Given the description of an element on the screen output the (x, y) to click on. 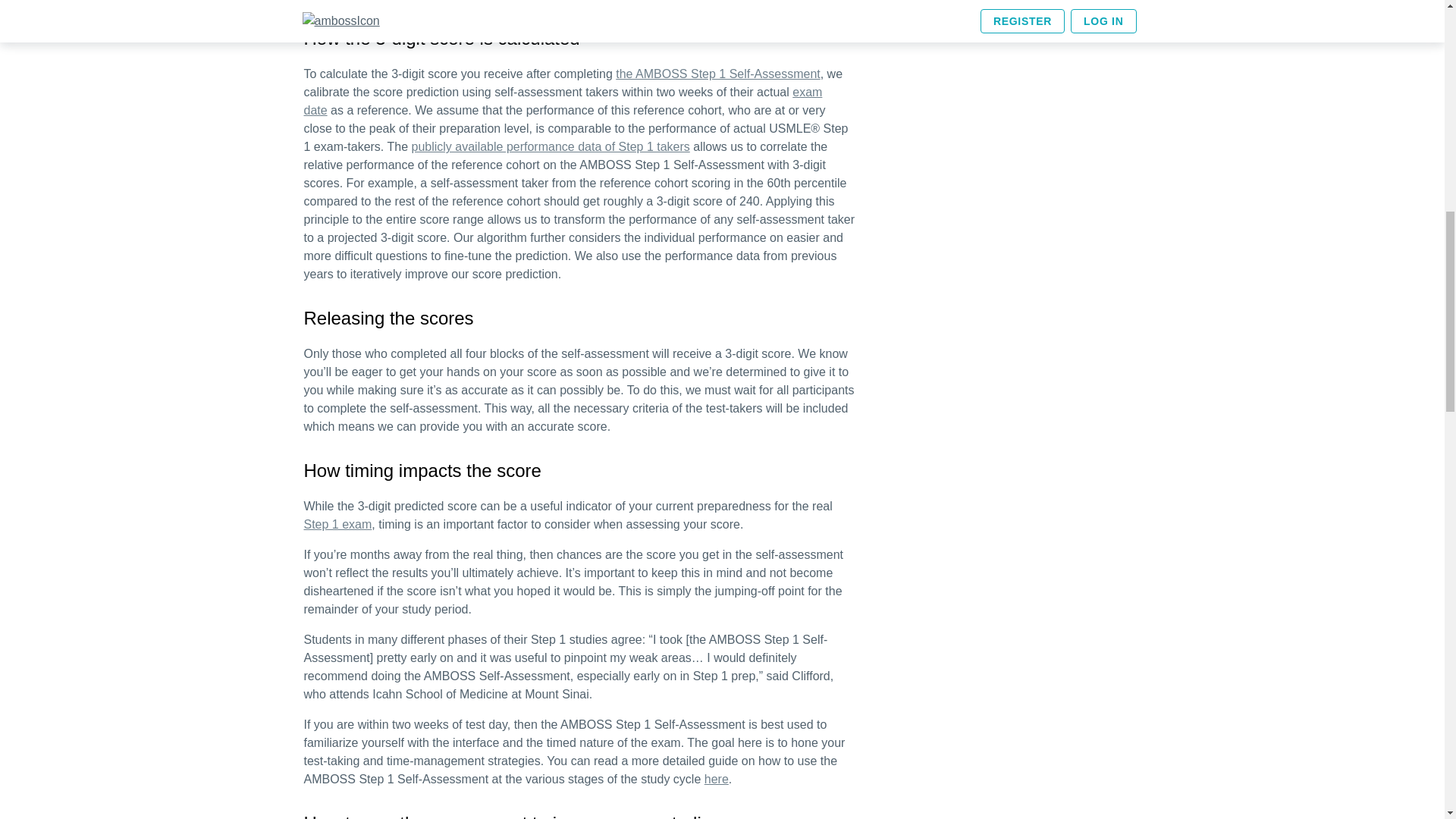
the AMBOSS Step 1 Self-Assessment (717, 73)
here (716, 779)
Step 1 exam (336, 523)
exam date (562, 101)
publicly available performance data of Step 1 takers (549, 146)
